Given the description of an element on the screen output the (x, y) to click on. 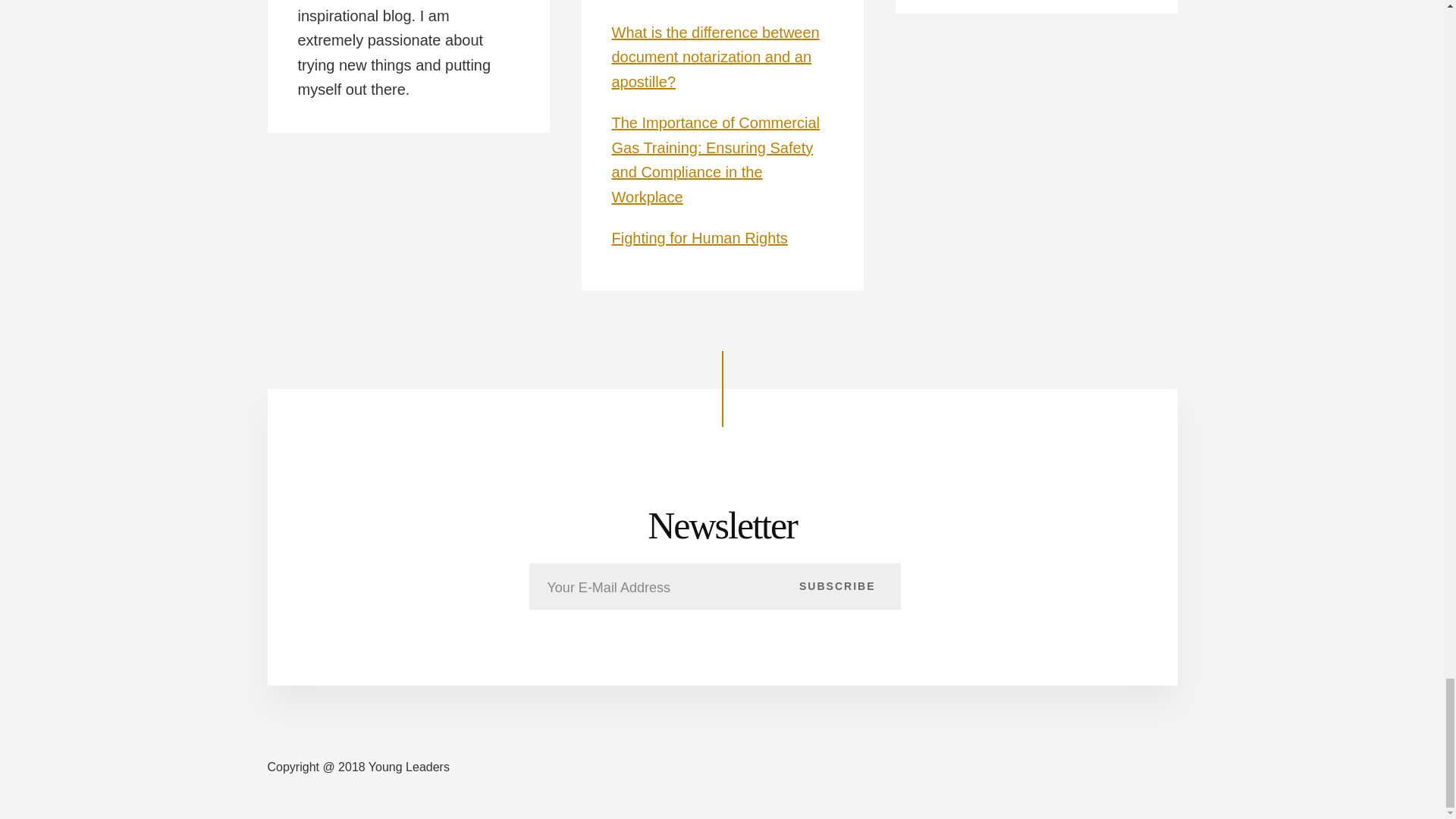
SUBSCRIBE (837, 585)
Fighting for Human Rights (699, 238)
SUBSCRIBE (837, 585)
